Given the description of an element on the screen output the (x, y) to click on. 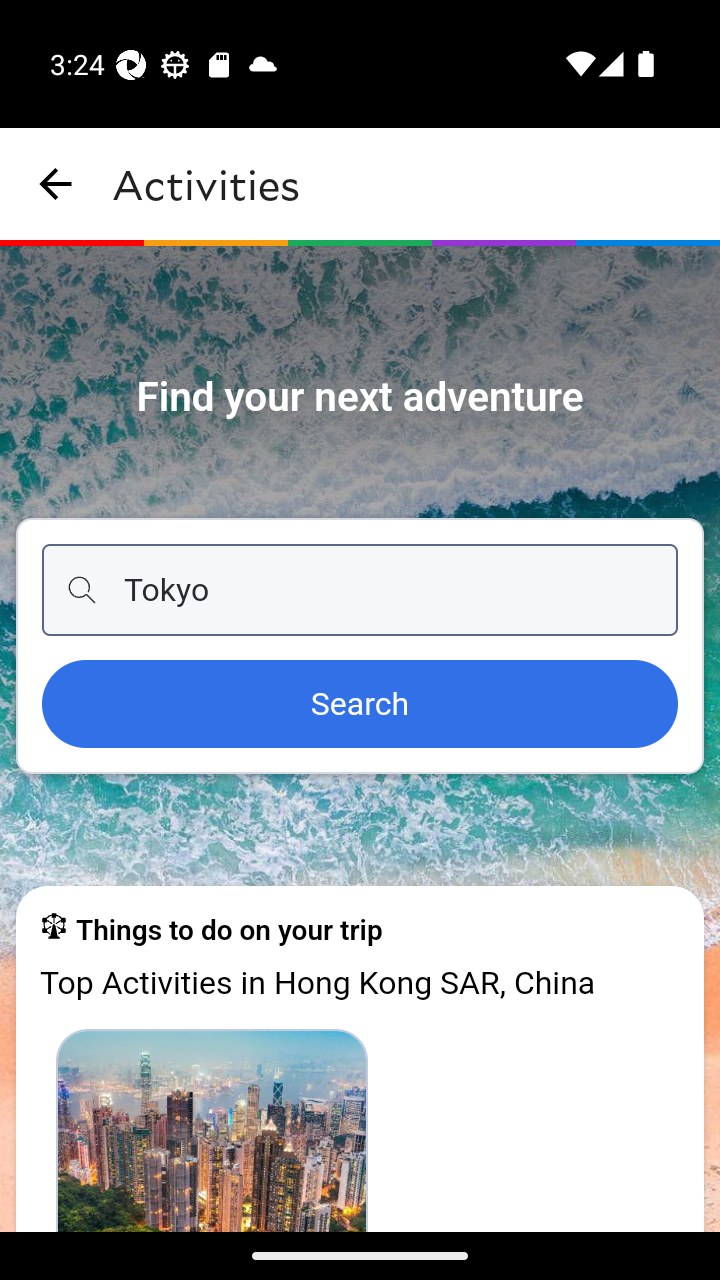
navigation_button (56, 184)
Tokyo (359, 590)
Search (359, 705)
Find top deals Hong Kong Find top deals (211, 1129)
